Given the description of an element on the screen output the (x, y) to click on. 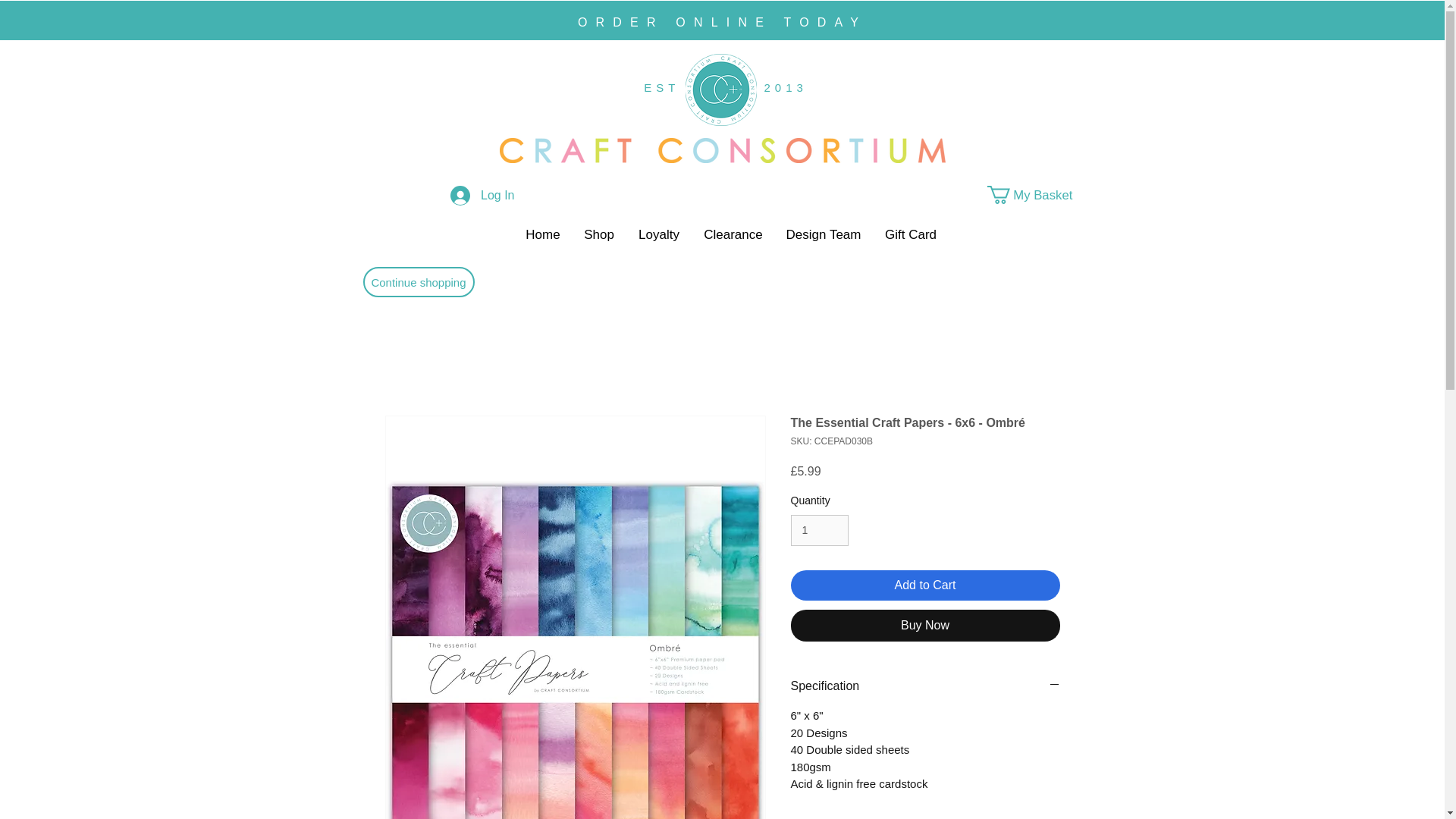
Loyalty (659, 235)
Home (542, 235)
Continue shopping (418, 281)
1 (818, 530)
Add to Cart (924, 585)
Buy Now (924, 625)
My Basket (1040, 194)
Gift Card (910, 235)
Clearance (732, 235)
Design Team (823, 235)
Specification (924, 686)
Shop (599, 235)
My Basket (1040, 194)
Log In (481, 194)
